Given the description of an element on the screen output the (x, y) to click on. 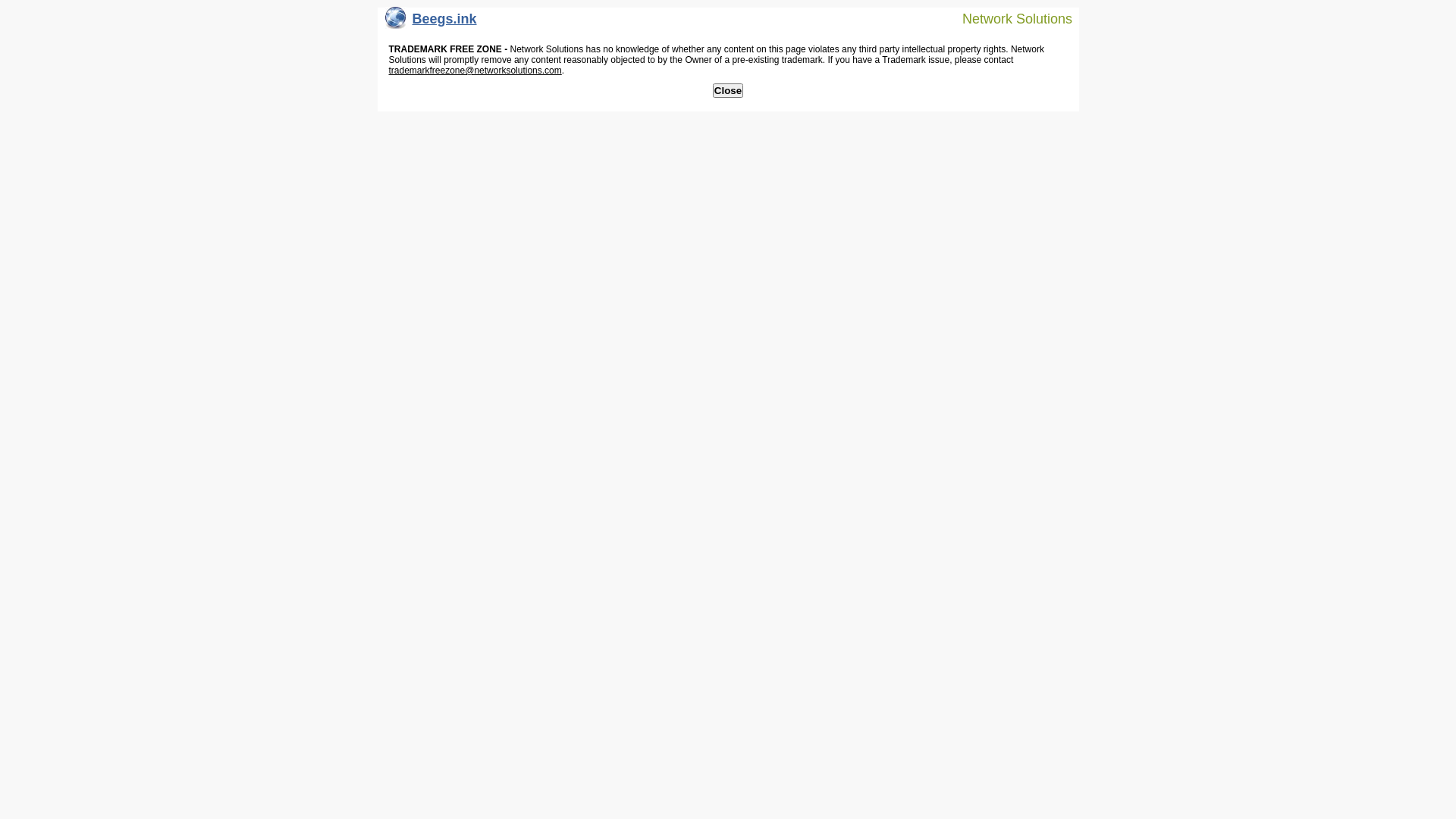
Beegs.ink Element type: text (430, 21)
trademarkfreezone@networksolutions.com Element type: text (474, 70)
Network Solutions Element type: text (1007, 17)
Close Element type: text (727, 90)
